Given the description of an element on the screen output the (x, y) to click on. 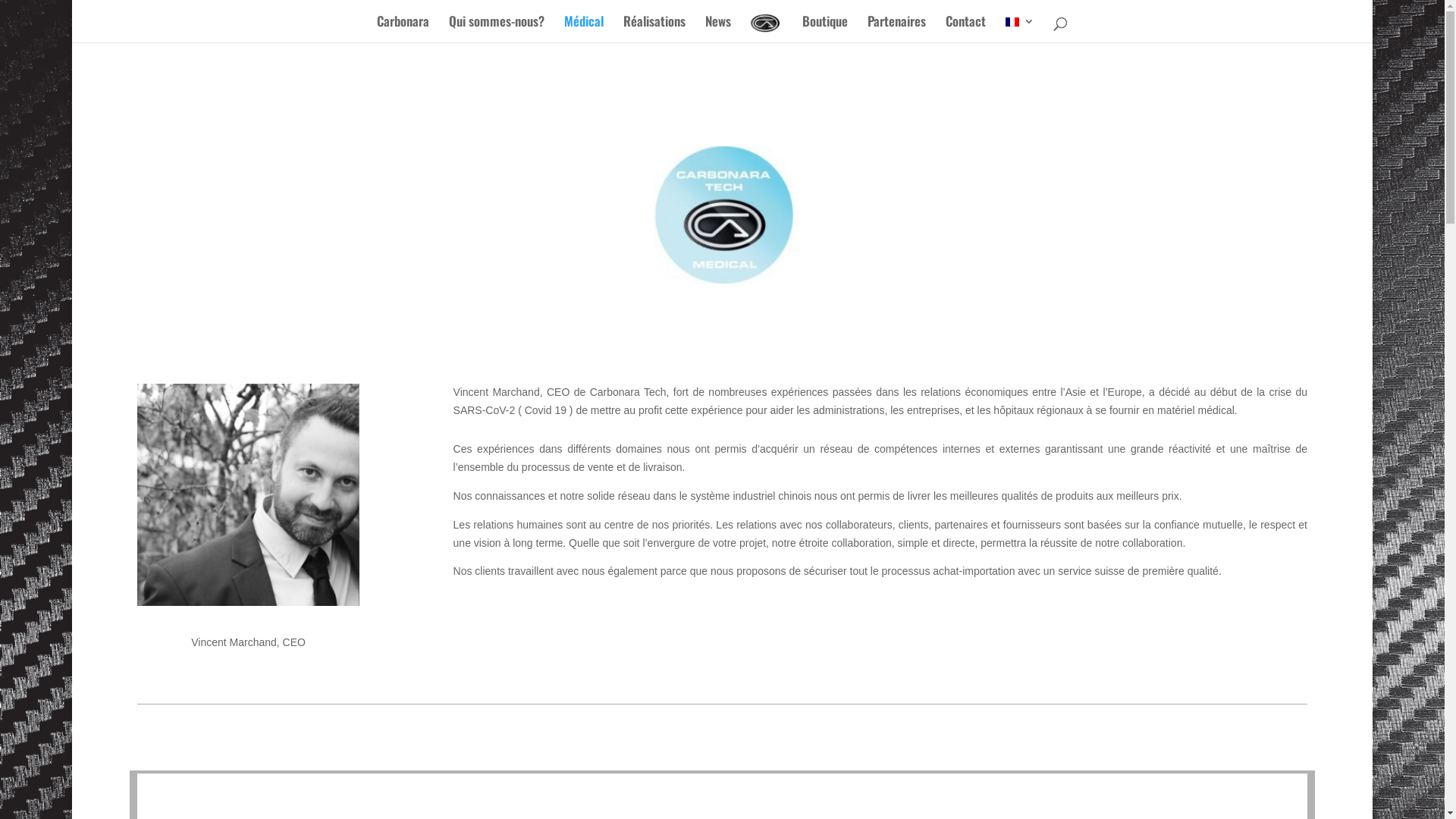
Qui sommes-nous? Element type: text (496, 28)
Partenaires Element type: text (896, 28)
Carbonara Element type: text (402, 28)
Boutique Element type: text (824, 28)
News Element type: text (718, 28)
Contact Element type: text (965, 28)
